Given the description of an element on the screen output the (x, y) to click on. 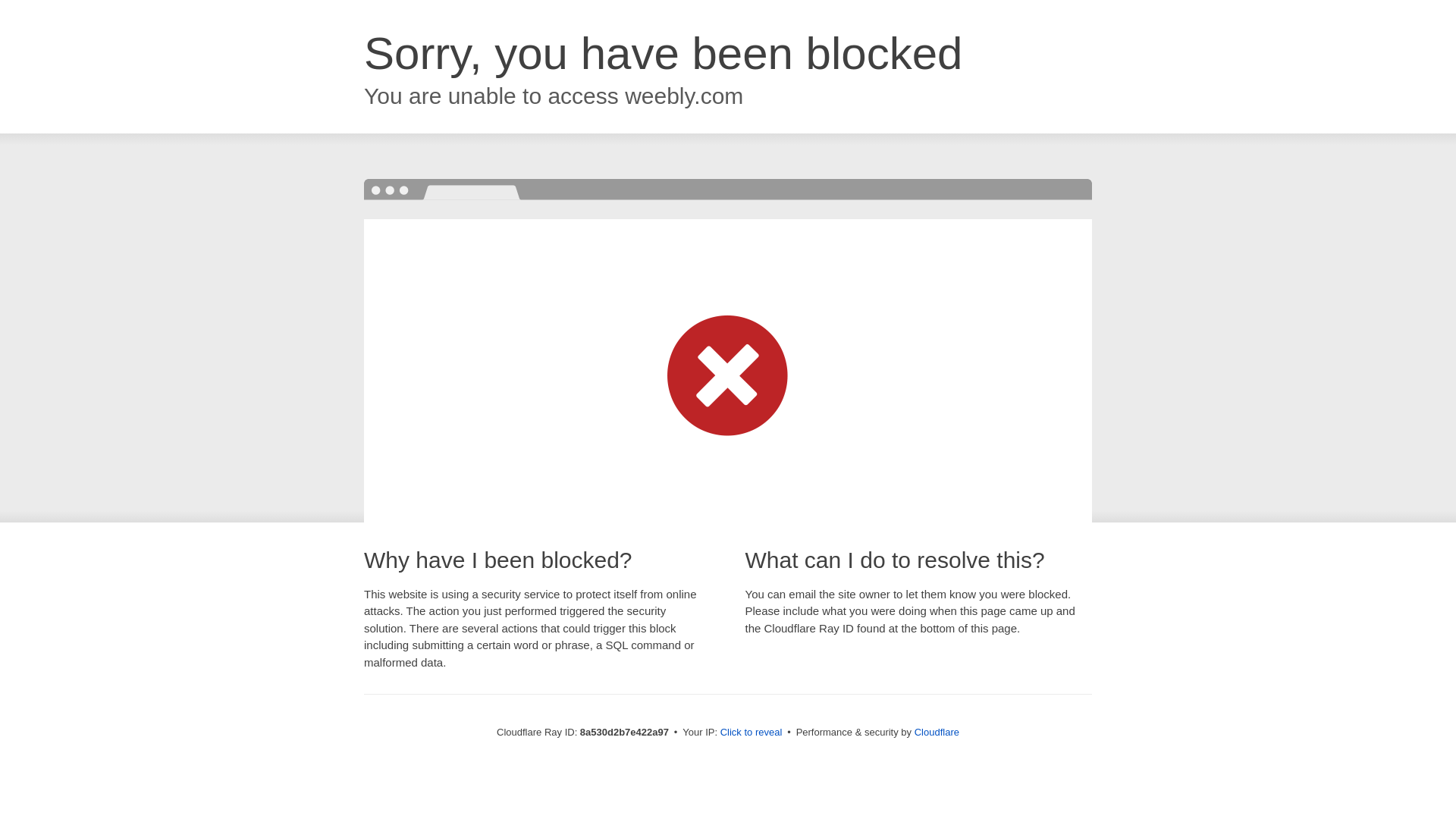
Cloudflare (936, 731)
Click to reveal (751, 732)
